Given the description of an element on the screen output the (x, y) to click on. 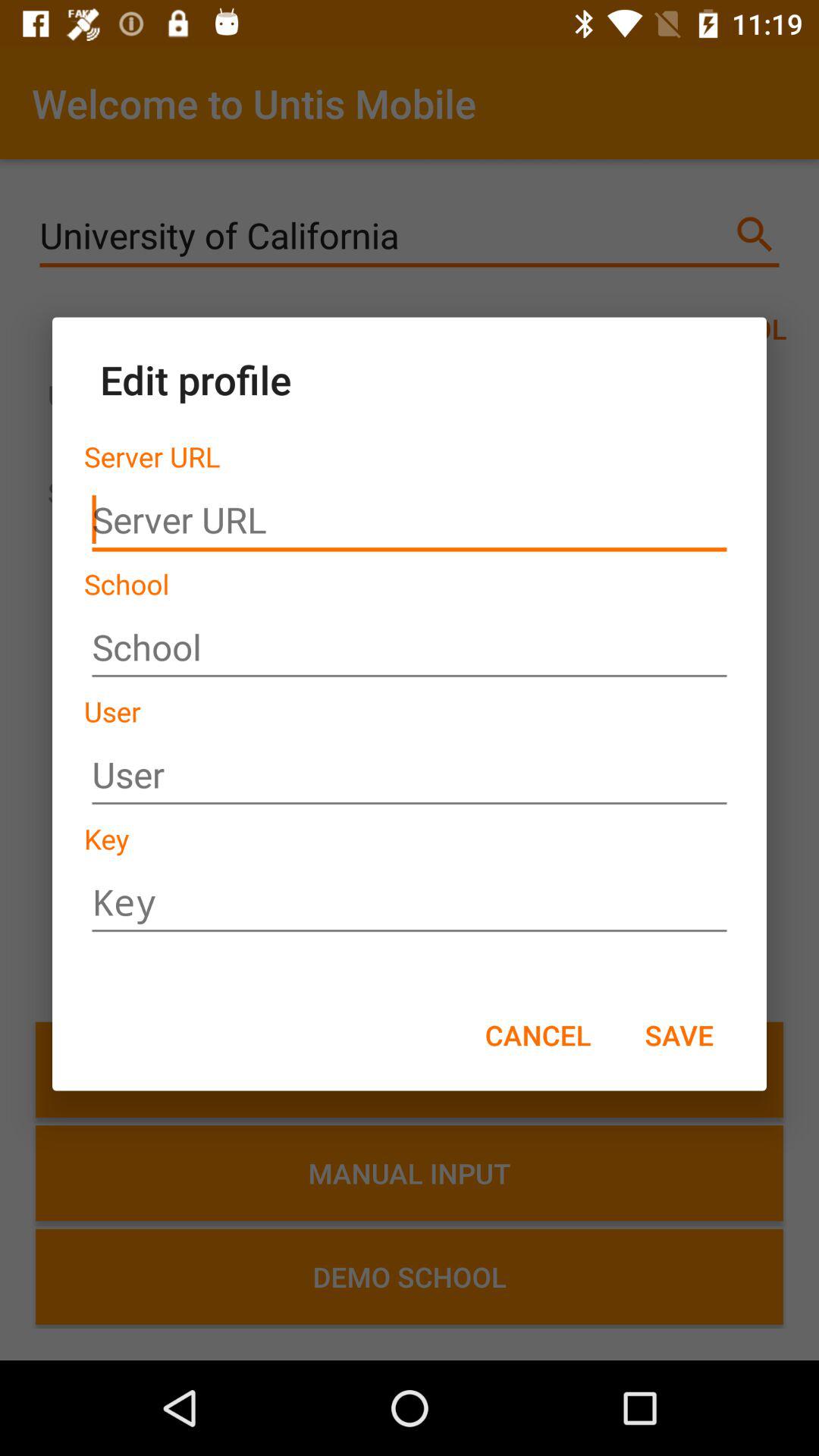
open icon at the bottom (538, 1034)
